Given the description of an element on the screen output the (x, y) to click on. 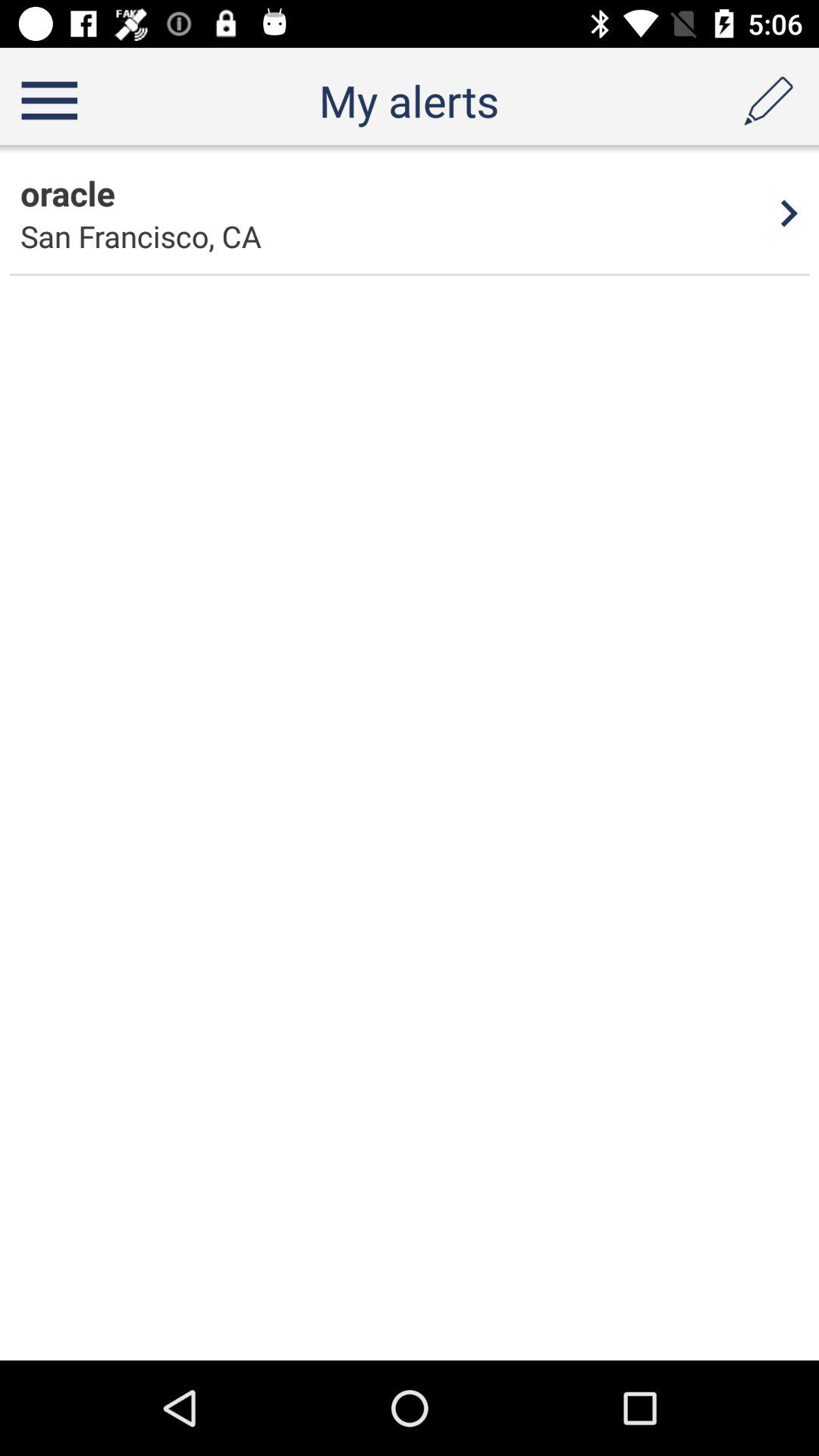
jump to the san francisco, ca (140, 236)
